Given the description of an element on the screen output the (x, y) to click on. 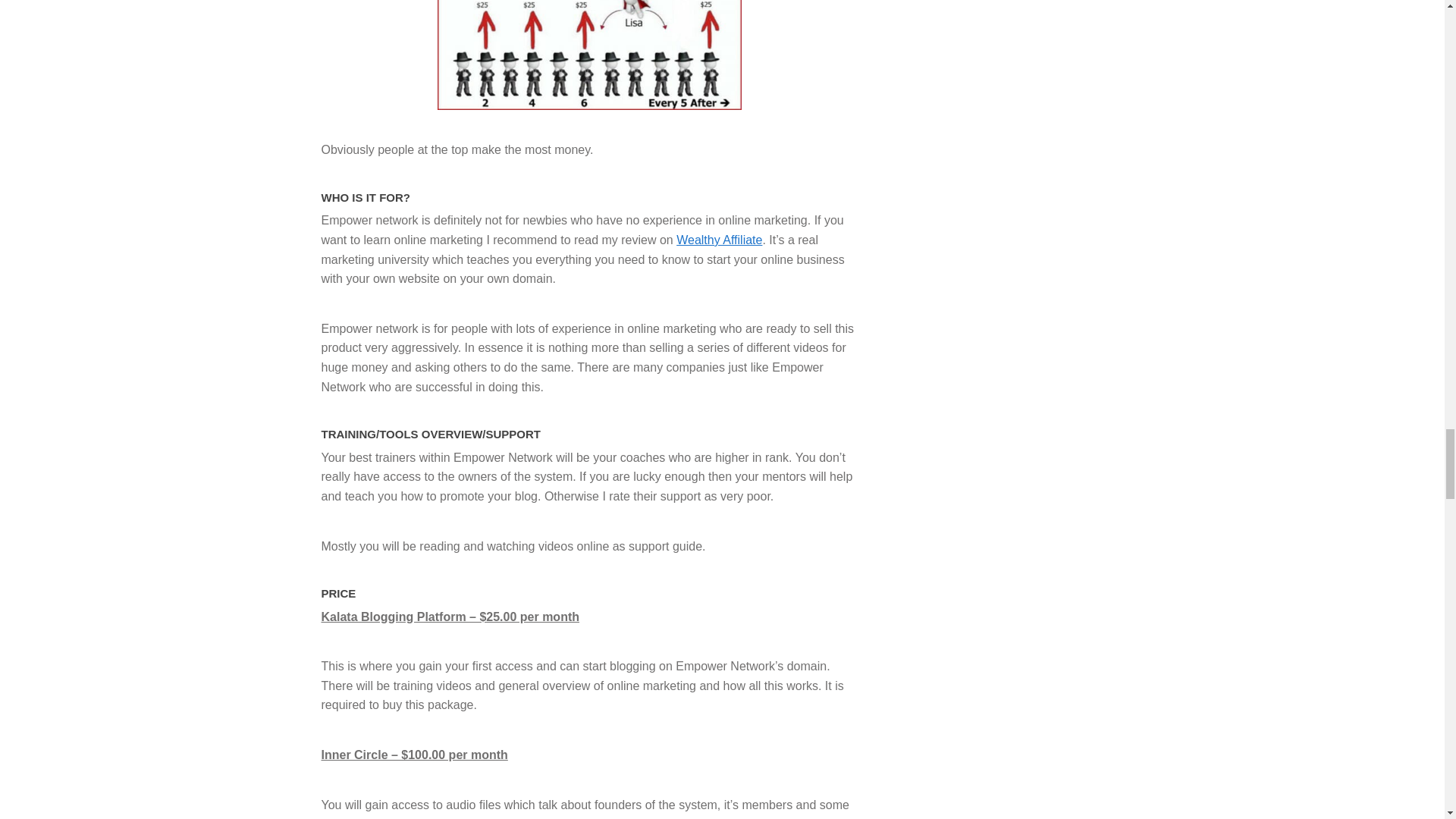
Wealthy Affiliate (719, 239)
